Given the description of an element on the screen output the (x, y) to click on. 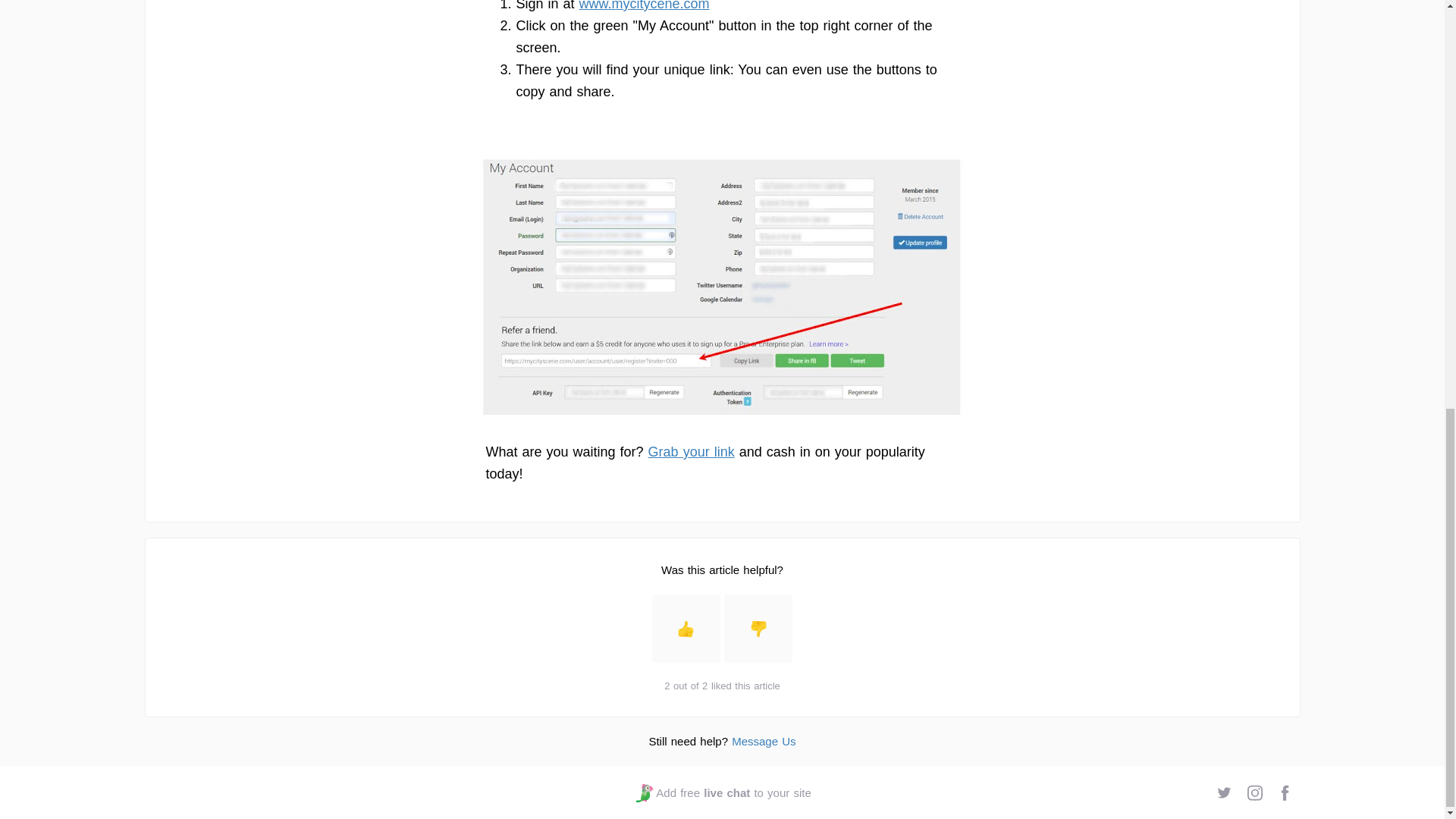
Message Us (763, 740)
www.mycitycene.com (644, 5)
Grab your link (691, 451)
